Given the description of an element on the screen output the (x, y) to click on. 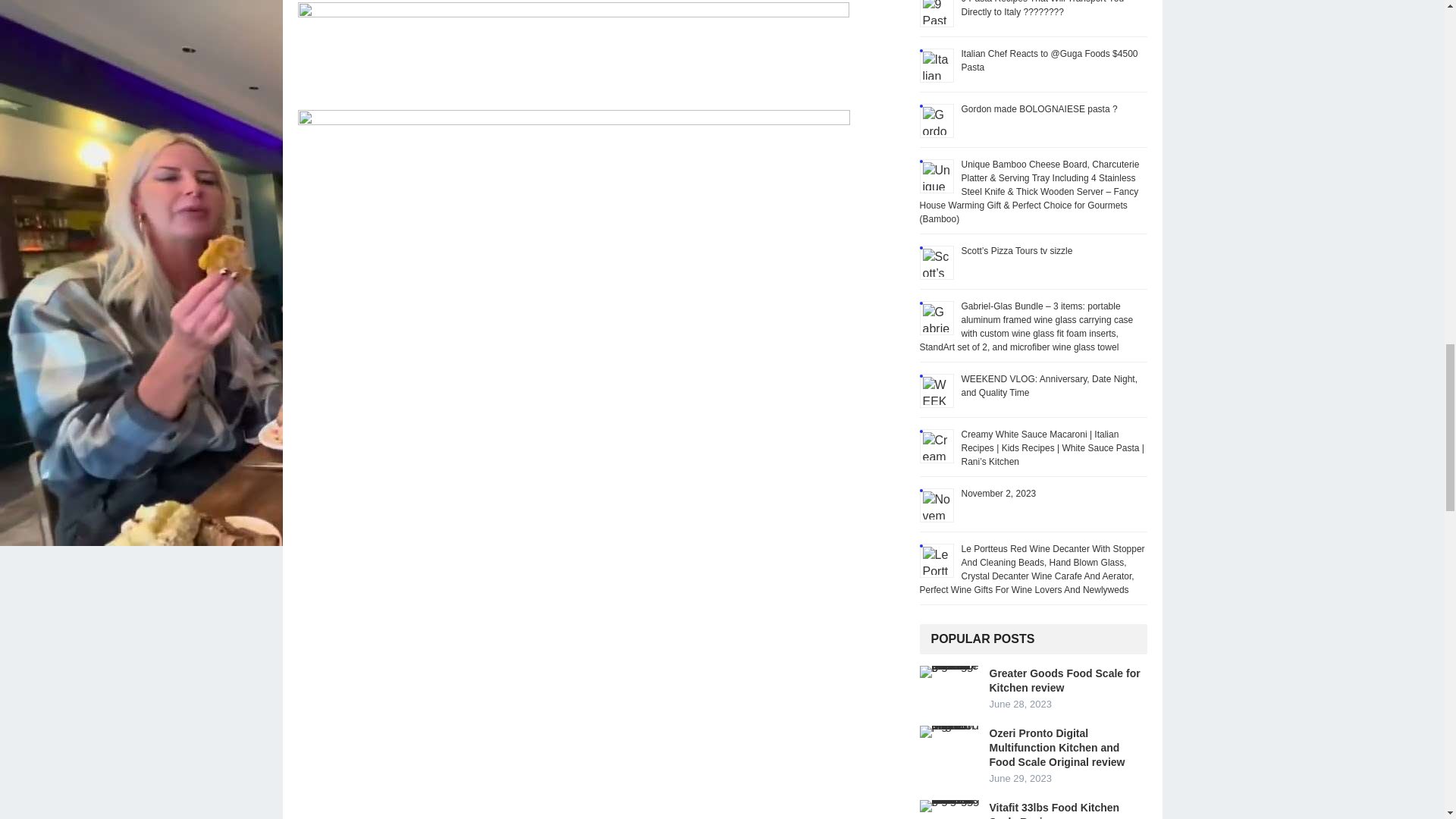
Greater Goods Food Scale for Kitchen review 17 (948, 671)
Vitafit 33lbs Food Kitchen Scale Review 19 (948, 806)
